Given the description of an element on the screen output the (x, y) to click on. 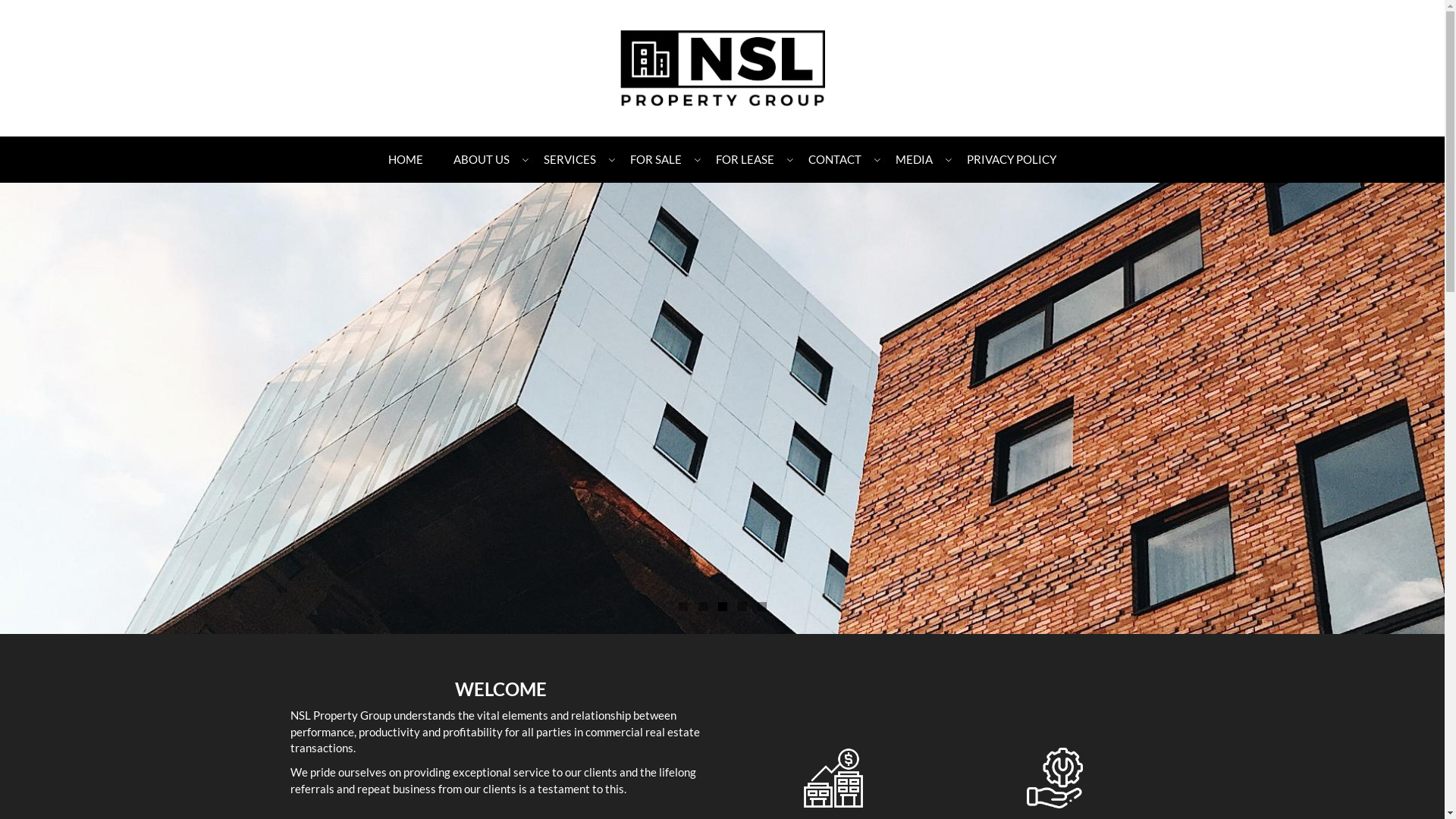
CONTACT Element type: text (836, 159)
SERVICES Element type: text (571, 159)
ABOUT US Element type: text (483, 159)
FOR SALE Element type: text (657, 159)
PRIVACY POLICY Element type: text (1011, 159)
NSL Property Group Element type: hover (721, 66)
HOME Element type: text (405, 159)
FOR LEASE Element type: text (746, 159)
MEDIA Element type: text (915, 159)
